Given the description of an element on the screen output the (x, y) to click on. 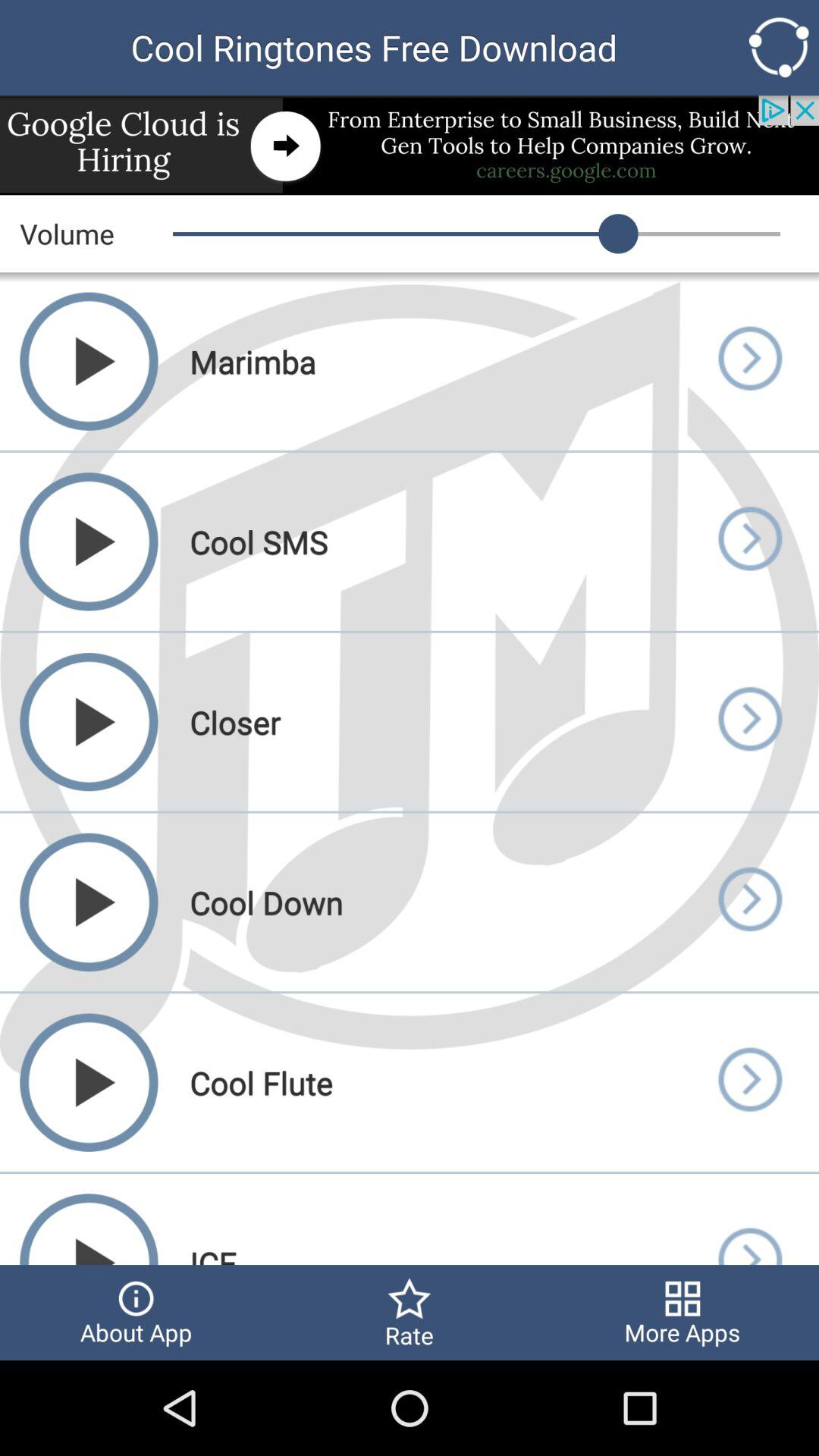
click settings (778, 47)
